Given the description of an element on the screen output the (x, y) to click on. 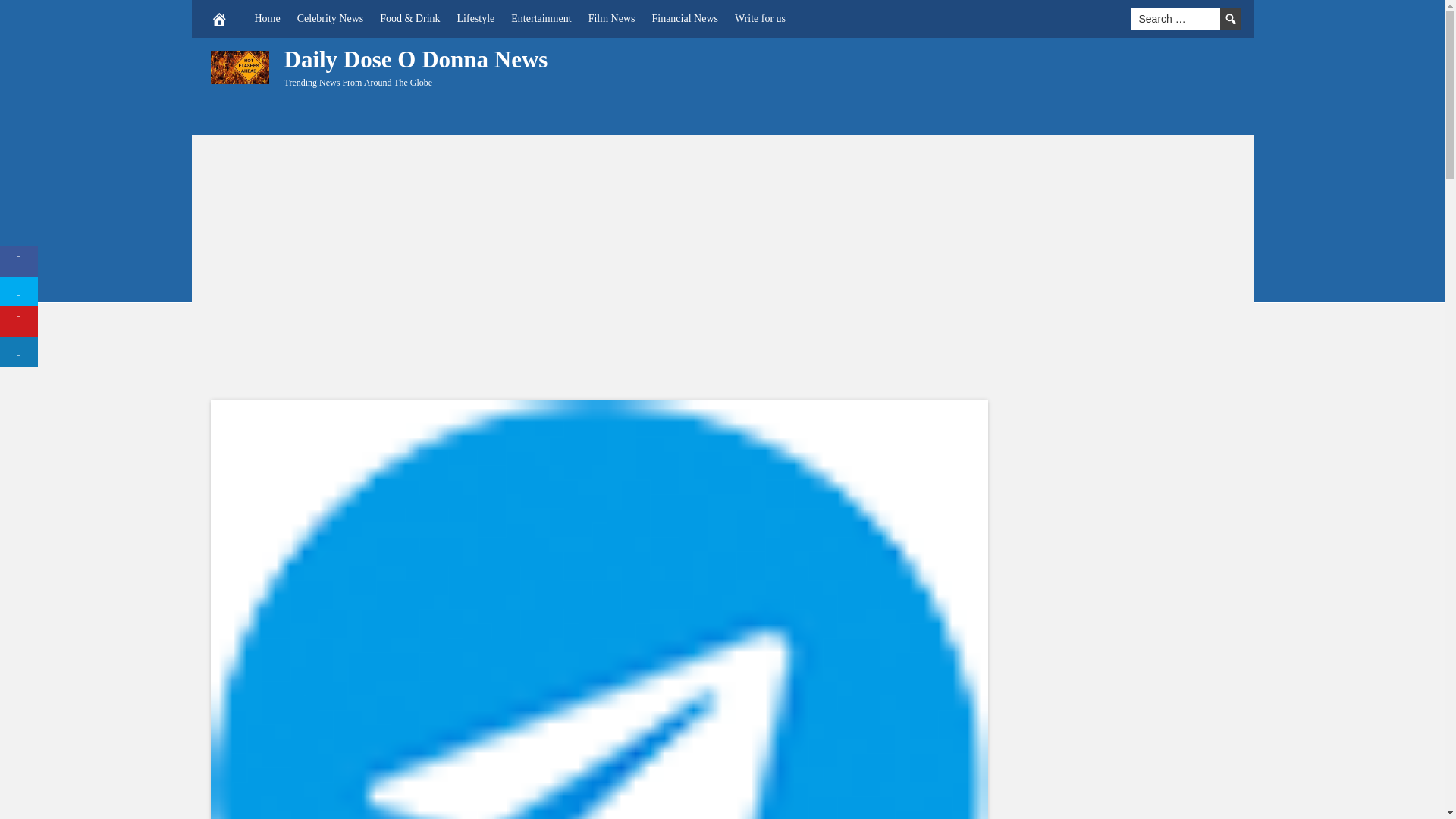
Lifestyle (475, 18)
Home (267, 18)
Financial News (684, 18)
Entertainment (540, 18)
Write for us (759, 18)
Daily Dose O Donna News (415, 58)
Celebrity News (329, 18)
Advertisement (958, 81)
Film News (611, 18)
